Given the description of an element on the screen output the (x, y) to click on. 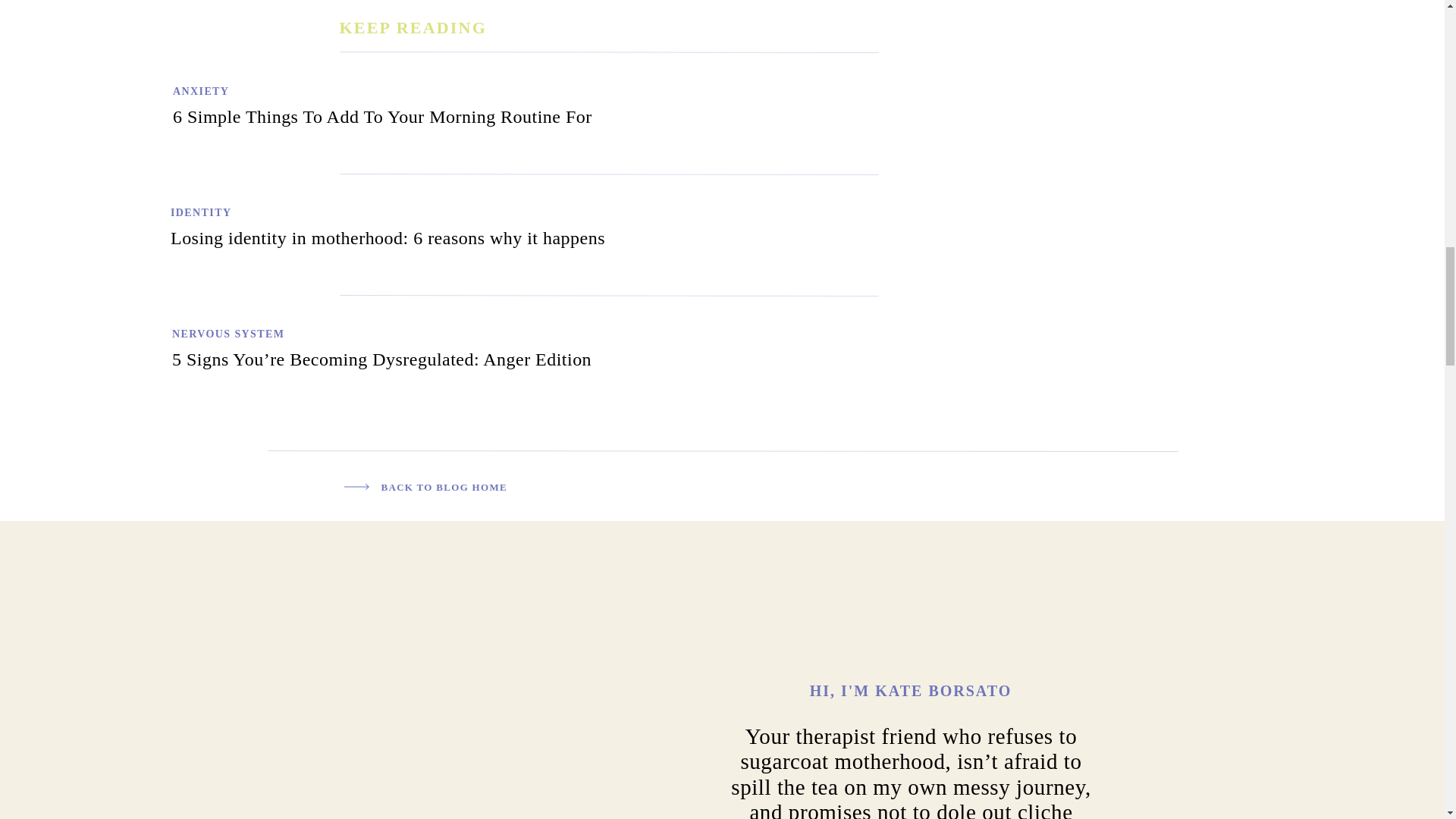
Losing identity in motherhood: 6 reasons why it happens (110, 235)
